Given the description of an element on the screen output the (x, y) to click on. 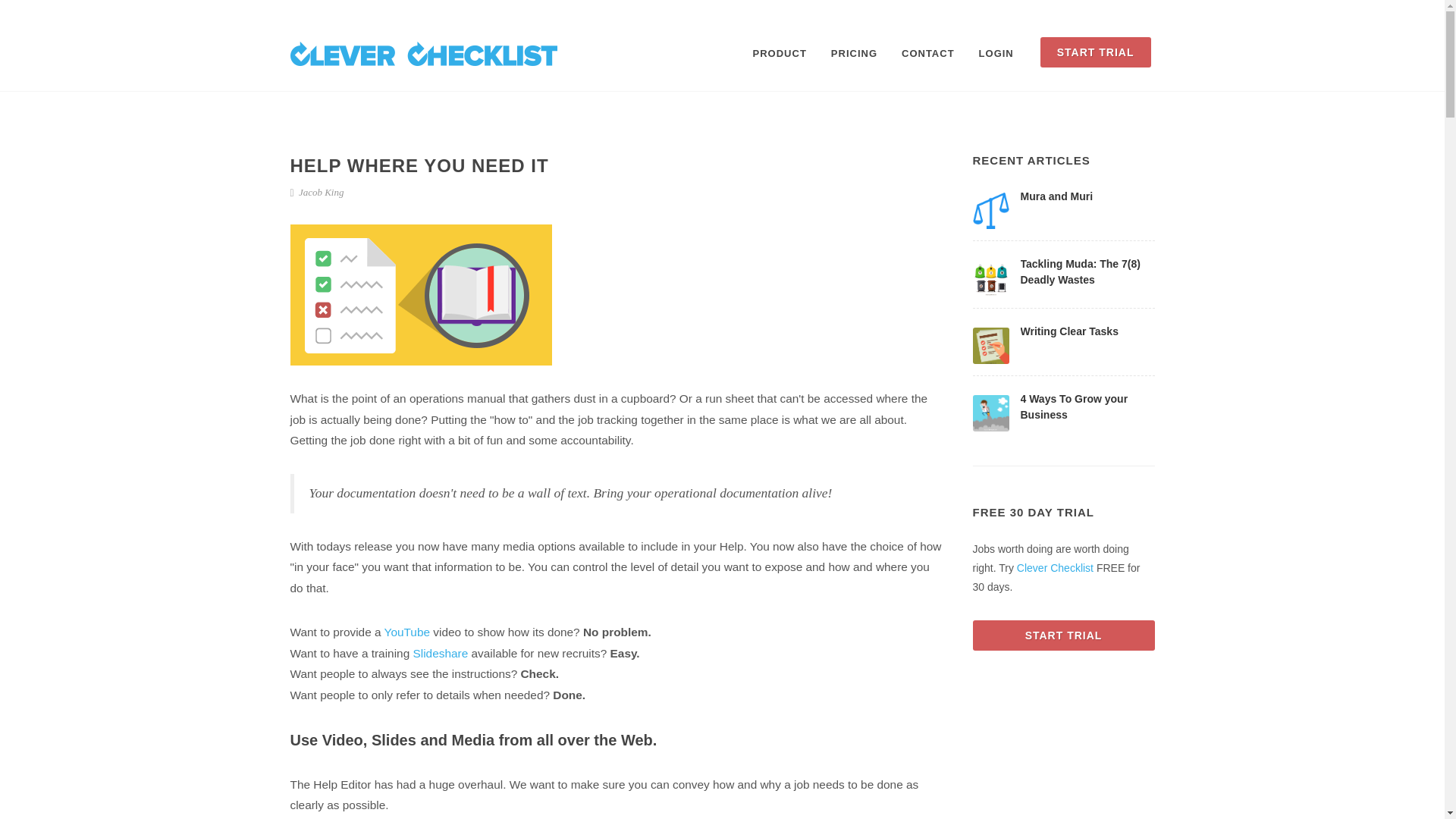
4 Ways To Grow your Business (1074, 406)
PRODUCT (779, 53)
Clever Checklist (1054, 567)
PRICING (853, 53)
START TRIAL (1063, 634)
Writing Clear Tasks (1069, 330)
YouTube (406, 631)
START TRIAL (1096, 51)
Mura and Muri (1056, 195)
CONTACT (927, 53)
Jacob King (316, 192)
Slideshare (439, 653)
